Given the description of an element on the screen output the (x, y) to click on. 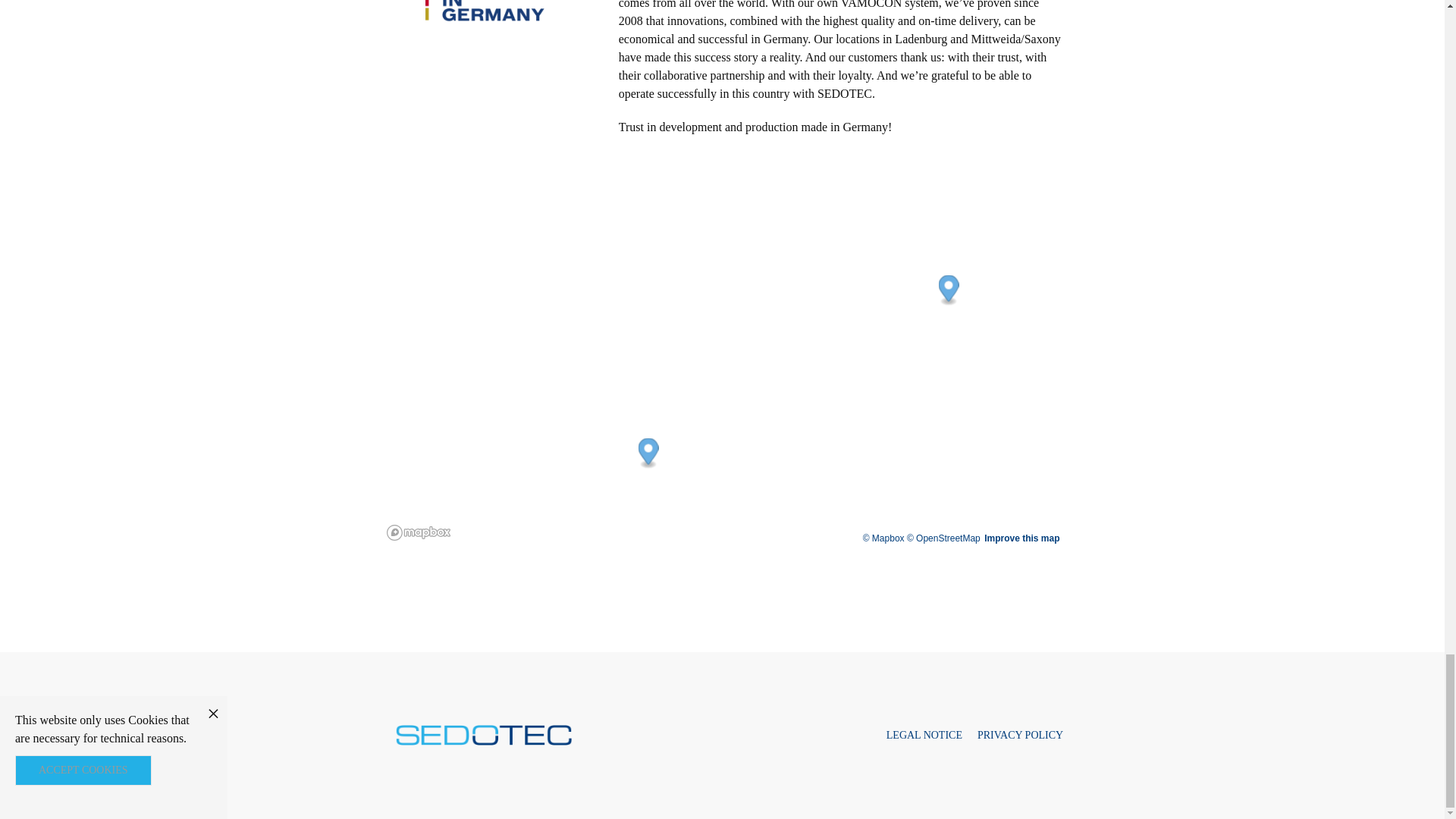
Improve this map (1021, 538)
Mapbox (883, 538)
OpenStreetMap (943, 538)
